Given the description of an element on the screen output the (x, y) to click on. 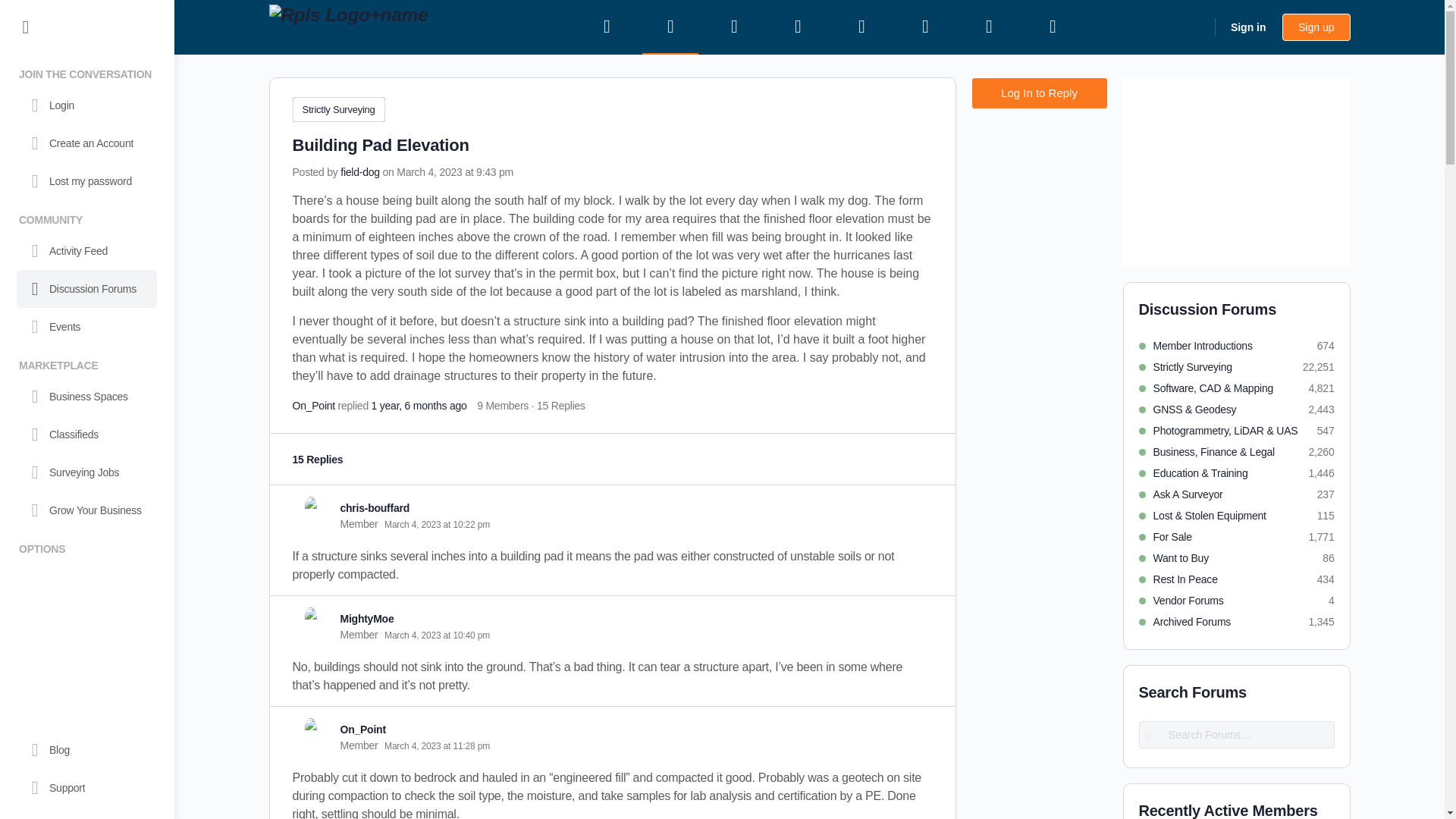
MARKETPLACE (87, 362)
RE: Building Pad Elevation (419, 405)
Support (86, 787)
View MightyMoe's profile (366, 618)
View MightyMoe's profile (310, 617)
Create an Account (86, 143)
Events (86, 326)
COMMUNITY (87, 216)
View chris-bouffard's profile (374, 508)
View chris-bouffard's profile (310, 506)
